Given the description of an element on the screen output the (x, y) to click on. 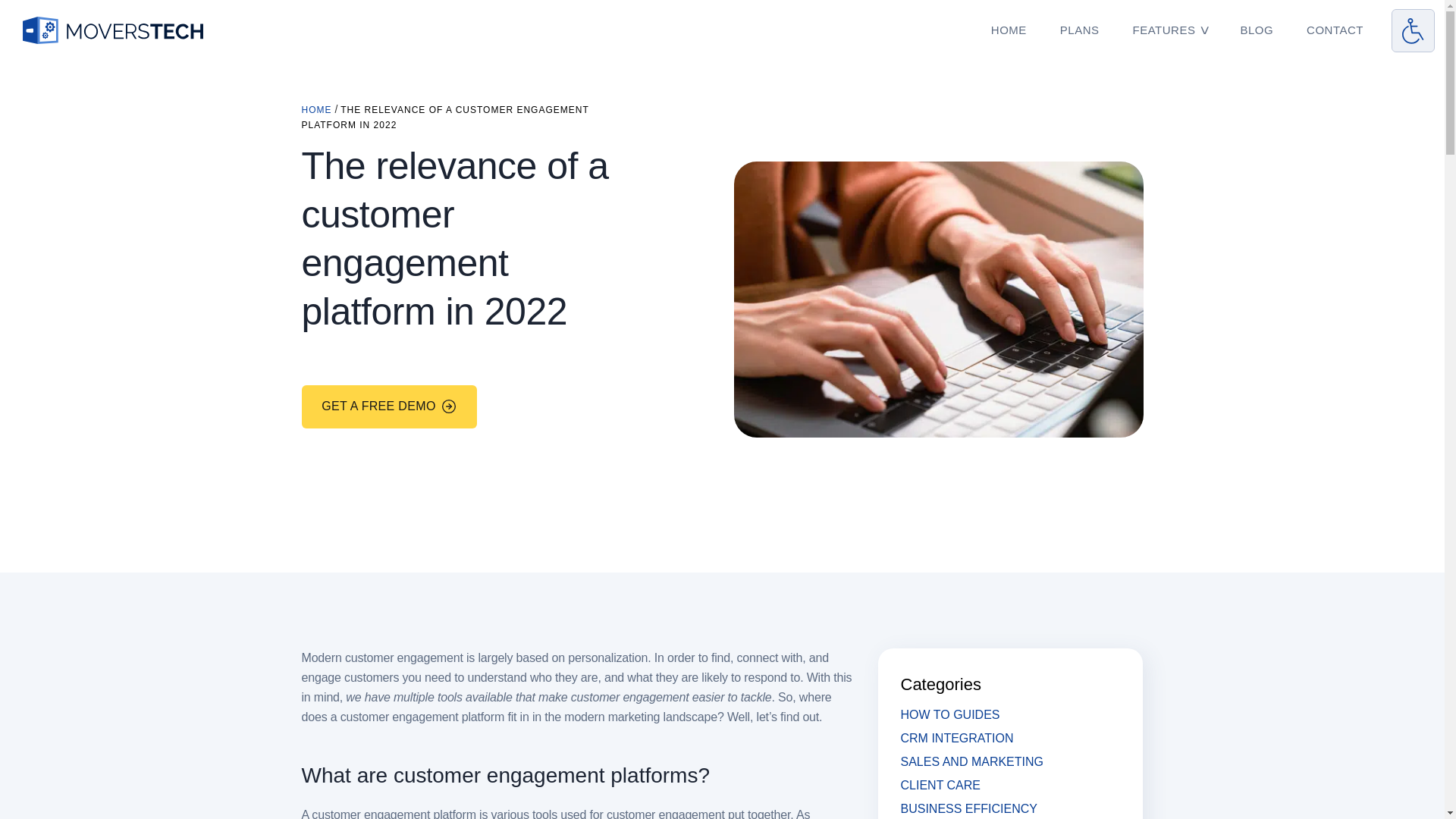
GET A FREE DEMO (389, 406)
CLIENT CARE (941, 784)
FEATURES (1164, 29)
HOW TO GUIDES (950, 714)
HOME (1008, 29)
SALES AND MARKETING (972, 761)
HOME (316, 109)
PLANS (1079, 29)
BUSINESS EFFICIENCY (968, 808)
Accessibility Helper sidebar (1412, 30)
